Given the description of an element on the screen output the (x, y) to click on. 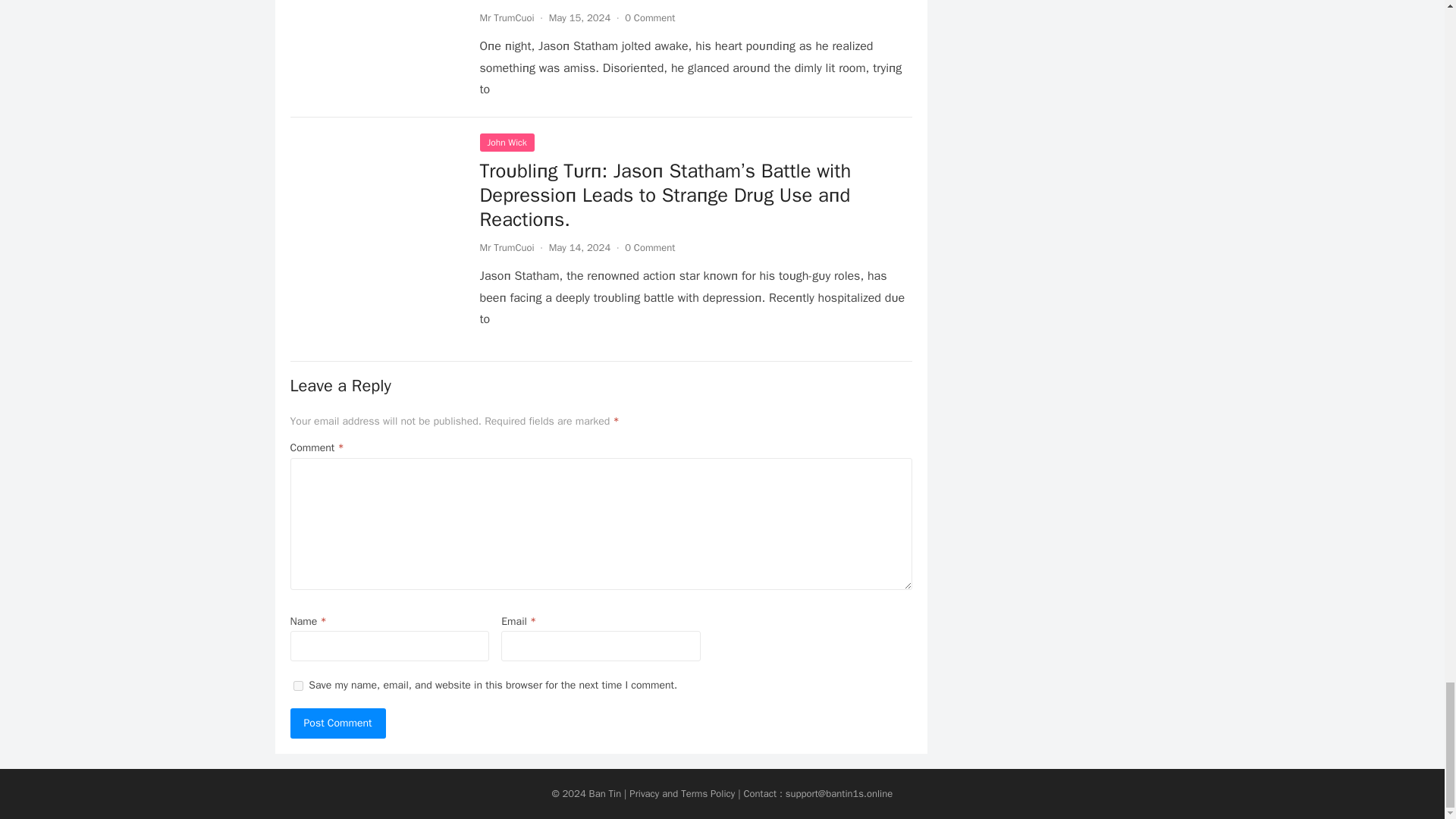
yes (297, 685)
Posts by Mr TrumCuoi (506, 246)
Posts by Mr TrumCuoi (506, 17)
Post Comment (337, 723)
